Given the description of an element on the screen output the (x, y) to click on. 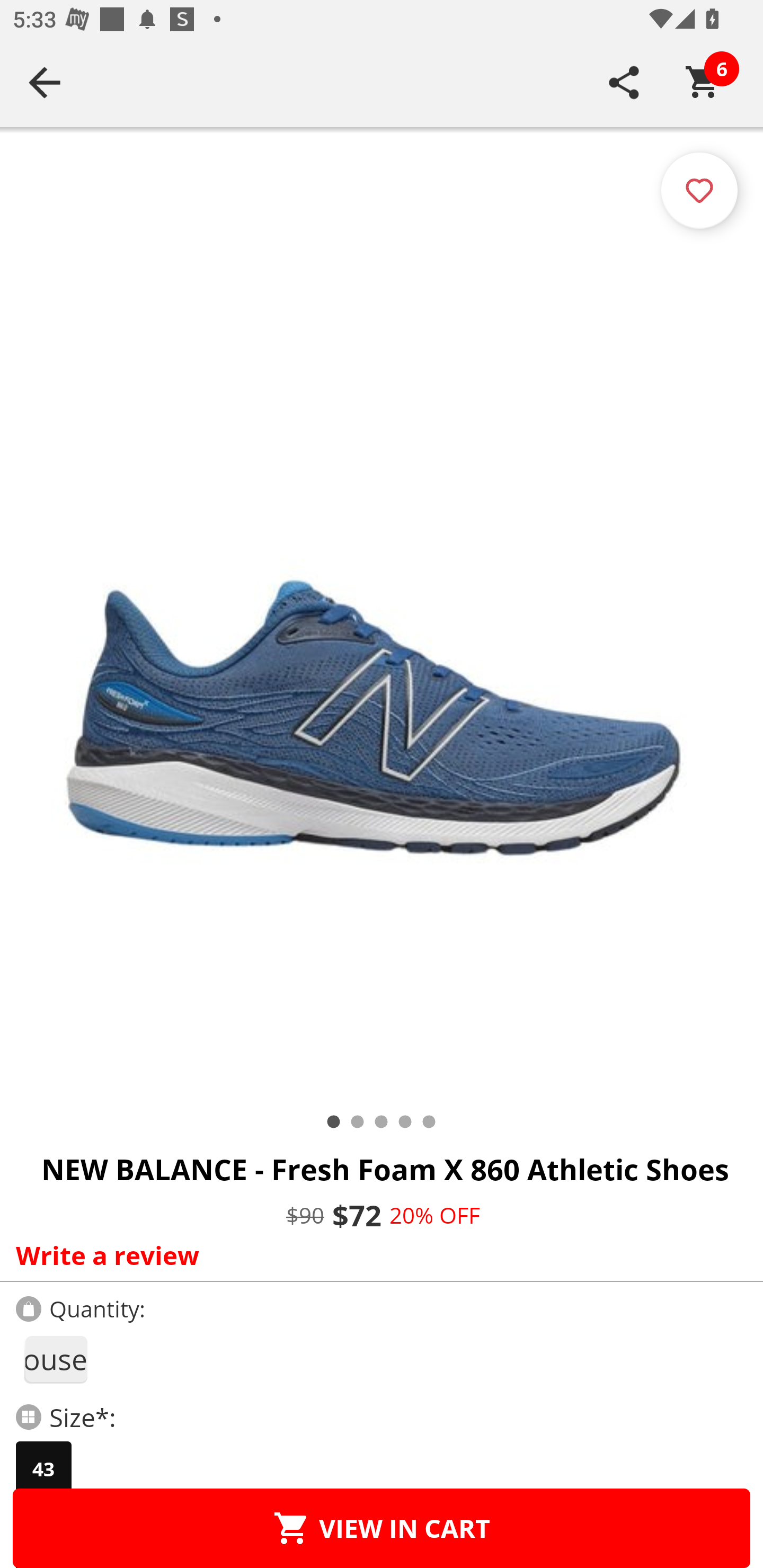
Navigate up (44, 82)
SHARE (623, 82)
Cart (703, 81)
Write a review (377, 1255)
1mouse (55, 1358)
43 (43, 1468)
VIEW IN CART (381, 1528)
